Given the description of an element on the screen output the (x, y) to click on. 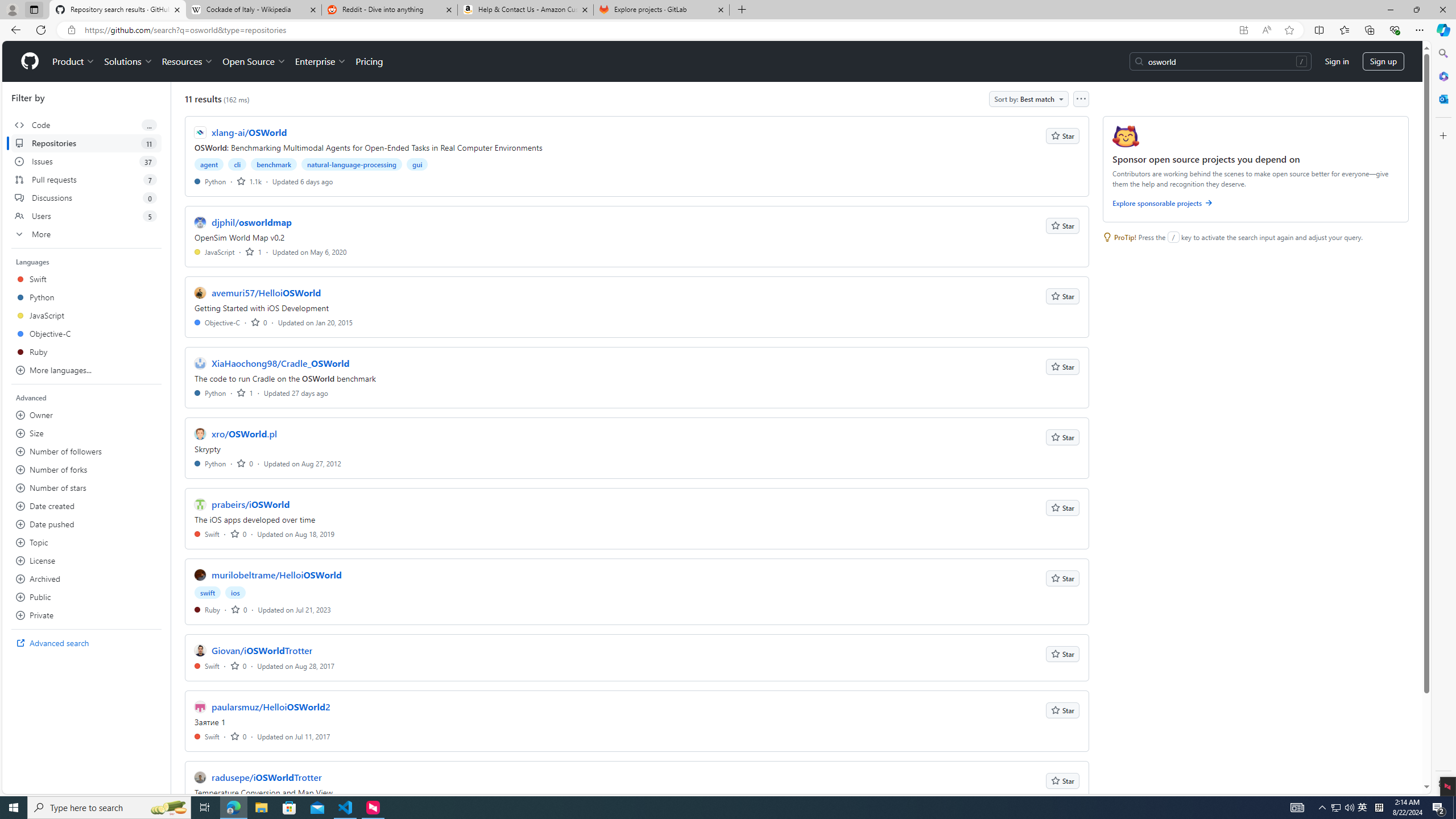
Open column options (1081, 98)
Reddit - Dive into anything (390, 9)
XiaHaochong98/Cradle_OSWorld (280, 363)
Read aloud this page (Ctrl+Shift+U) (1266, 29)
1 (244, 392)
Address and search bar (658, 29)
natural-language-processing (352, 164)
Refresh (40, 29)
Resources (187, 60)
Pricing (368, 60)
